Given the description of an element on the screen output the (x, y) to click on. 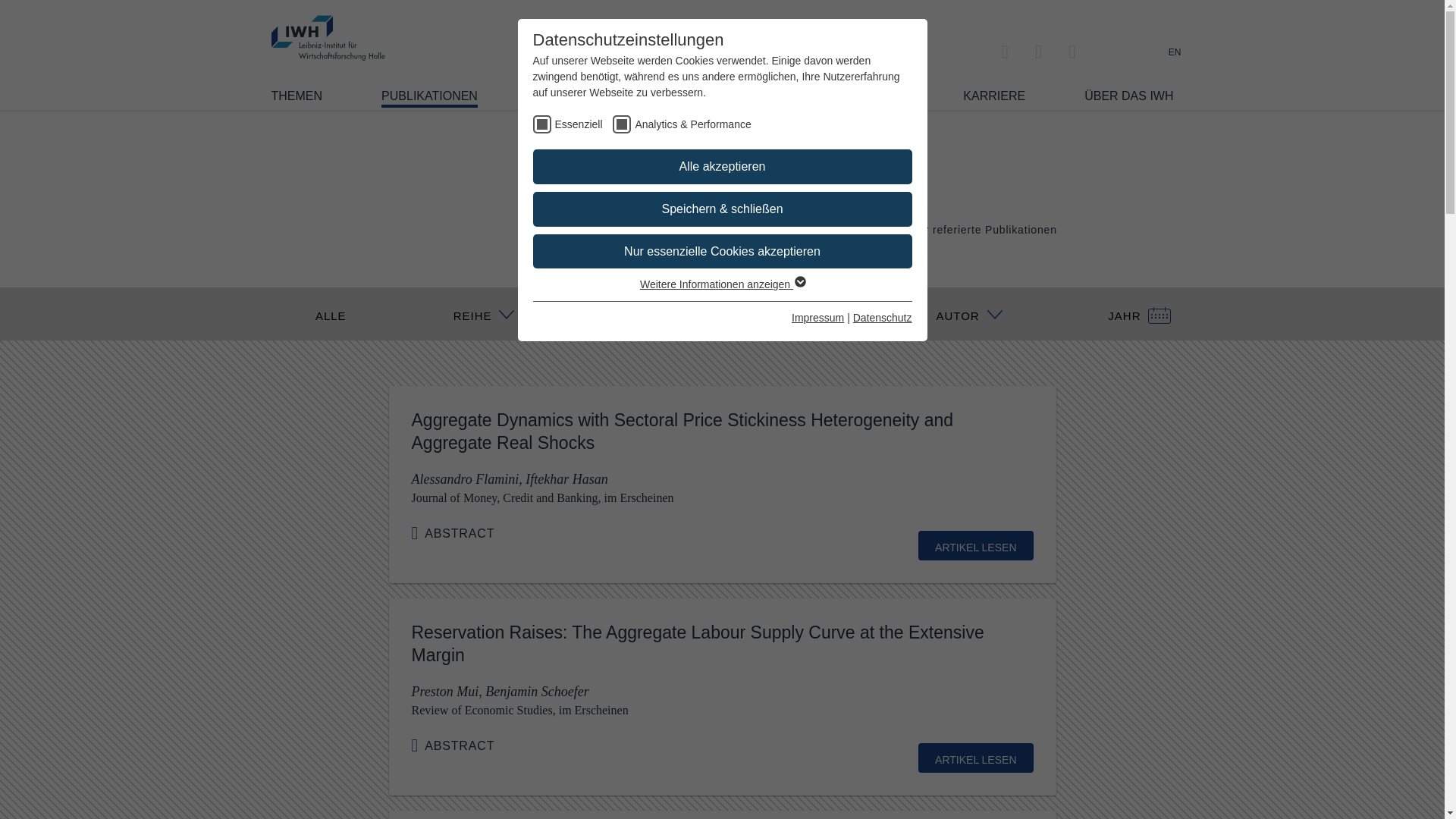
absenden (824, 811)
1 (889, 227)
PUBLIKATIONEN (429, 98)
THEMEN (296, 96)
FORSCHUNG (575, 96)
EN (1174, 51)
